Given the description of an element on the screen output the (x, y) to click on. 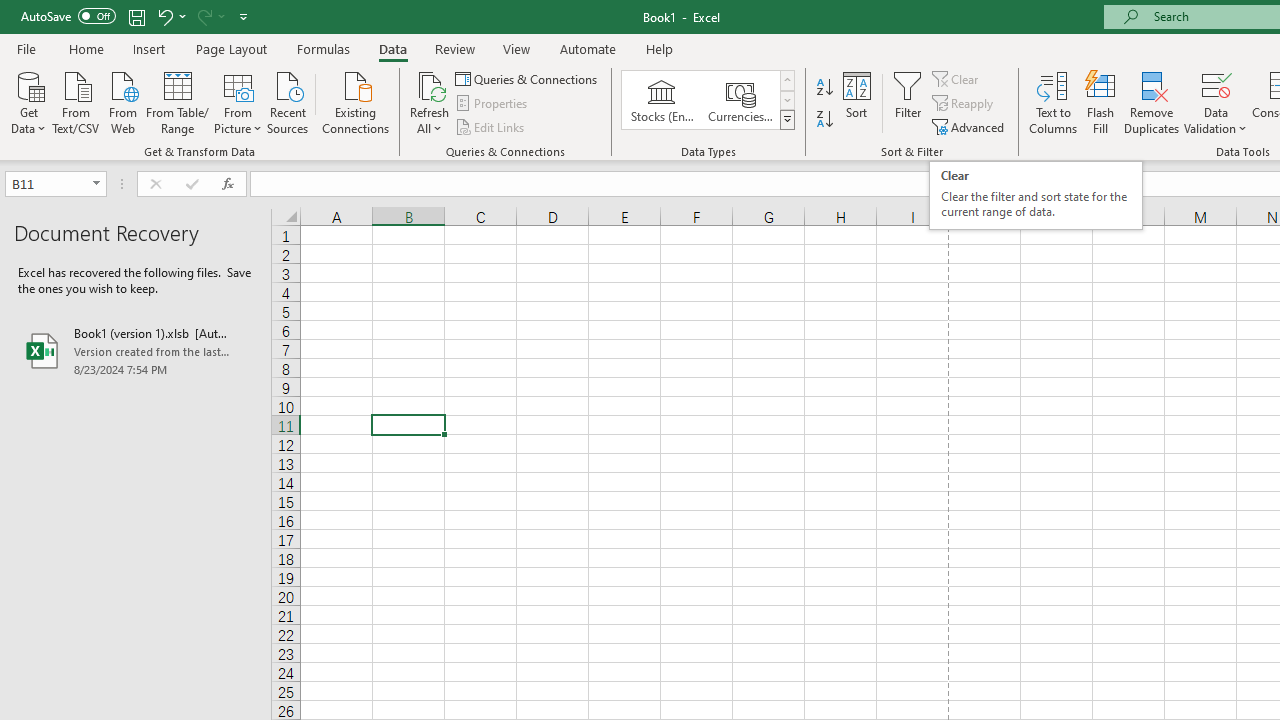
Data Types (786, 120)
Reapply (964, 103)
Sort A to Z (824, 87)
Get Data (28, 101)
AutomationID: ConvertToLinkedEntity (708, 99)
